Given the description of an element on the screen output the (x, y) to click on. 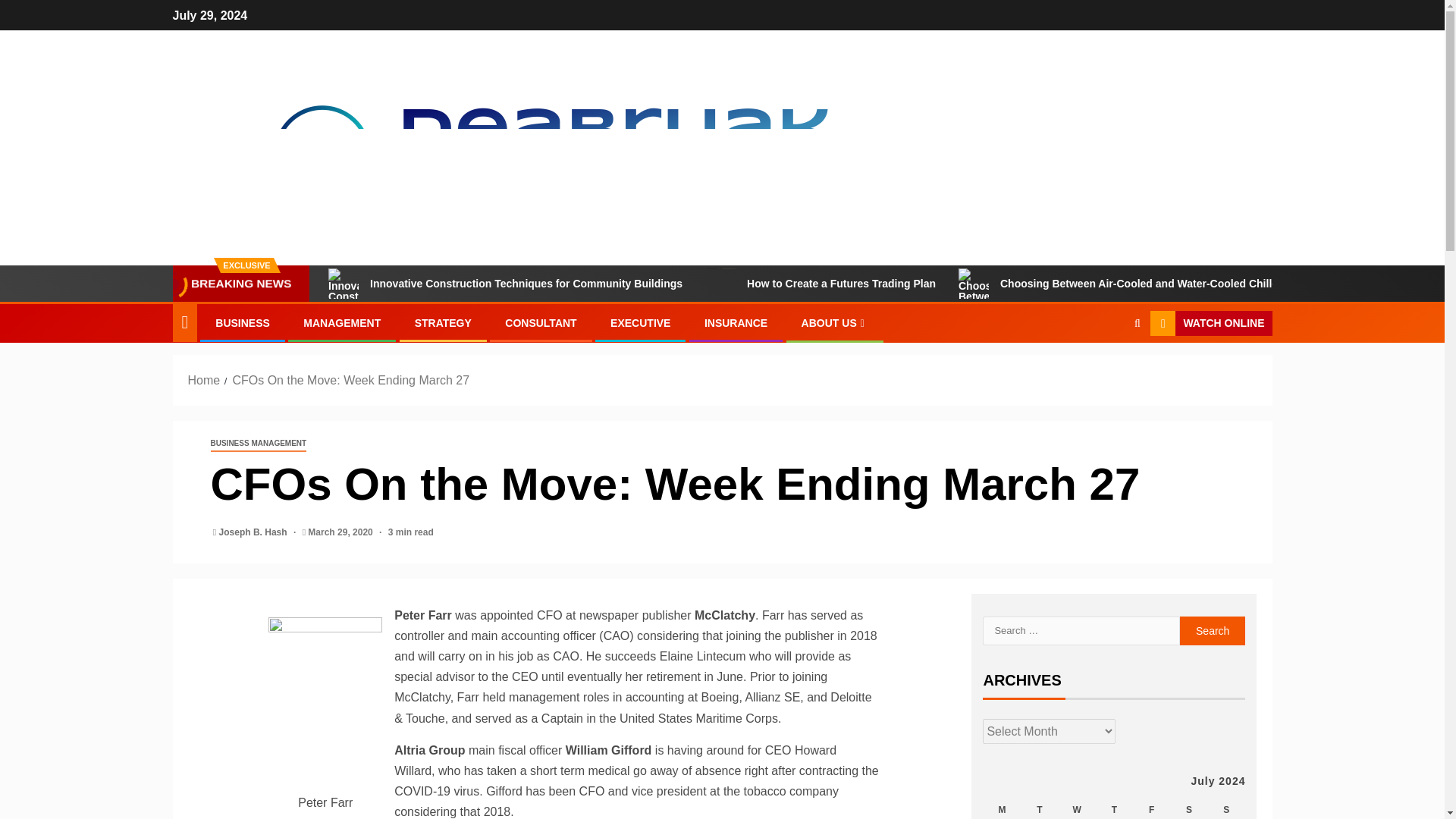
INSURANCE (735, 322)
How to Create a Futures Trading Plan (719, 283)
Search (1107, 369)
MANAGEMENT (341, 322)
STRATEGY (442, 322)
Wednesday (1077, 807)
BUSINESS (242, 322)
WATCH ONLINE (1210, 323)
CONSULTANT (540, 322)
Thursday (1114, 807)
Tuesday (1039, 807)
ABOUT US (834, 322)
Home (204, 379)
CFOs On the Move: Week Ending March 27 (349, 379)
BUSINESS MANAGEMENT (259, 443)
